Given the description of an element on the screen output the (x, y) to click on. 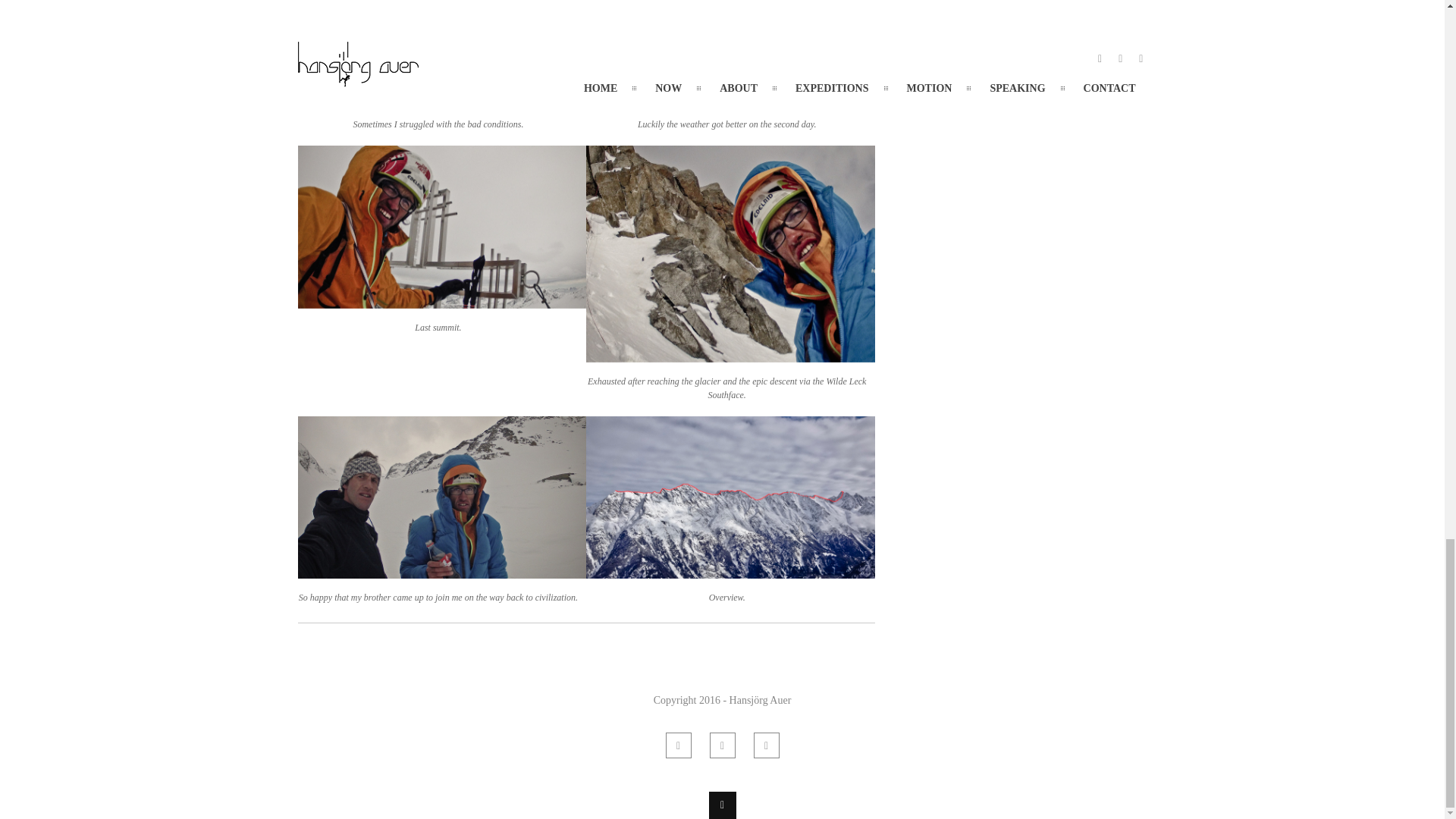
facebook (678, 745)
twitter (722, 745)
instagram (766, 745)
